Given the description of an element on the screen output the (x, y) to click on. 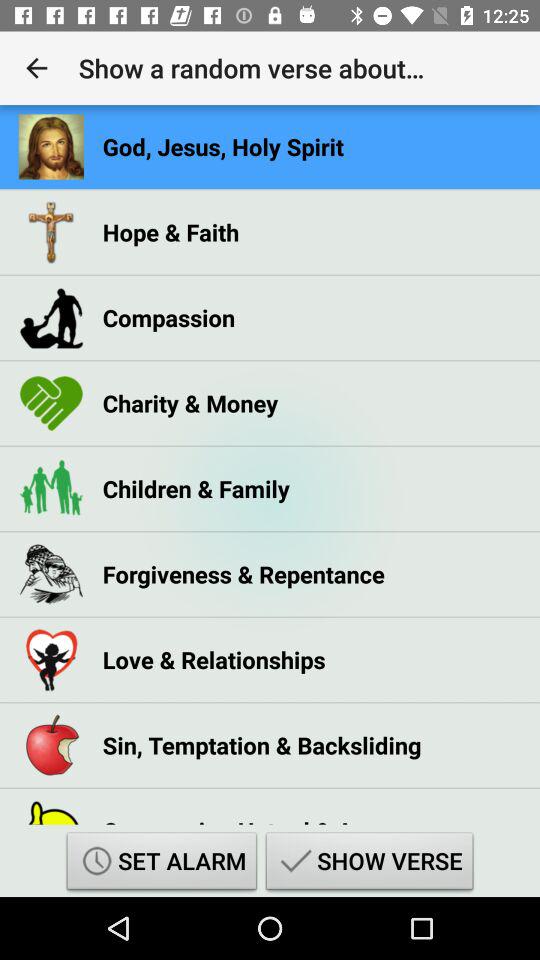
tap the hope & faith (170, 232)
